Given the description of an element on the screen output the (x, y) to click on. 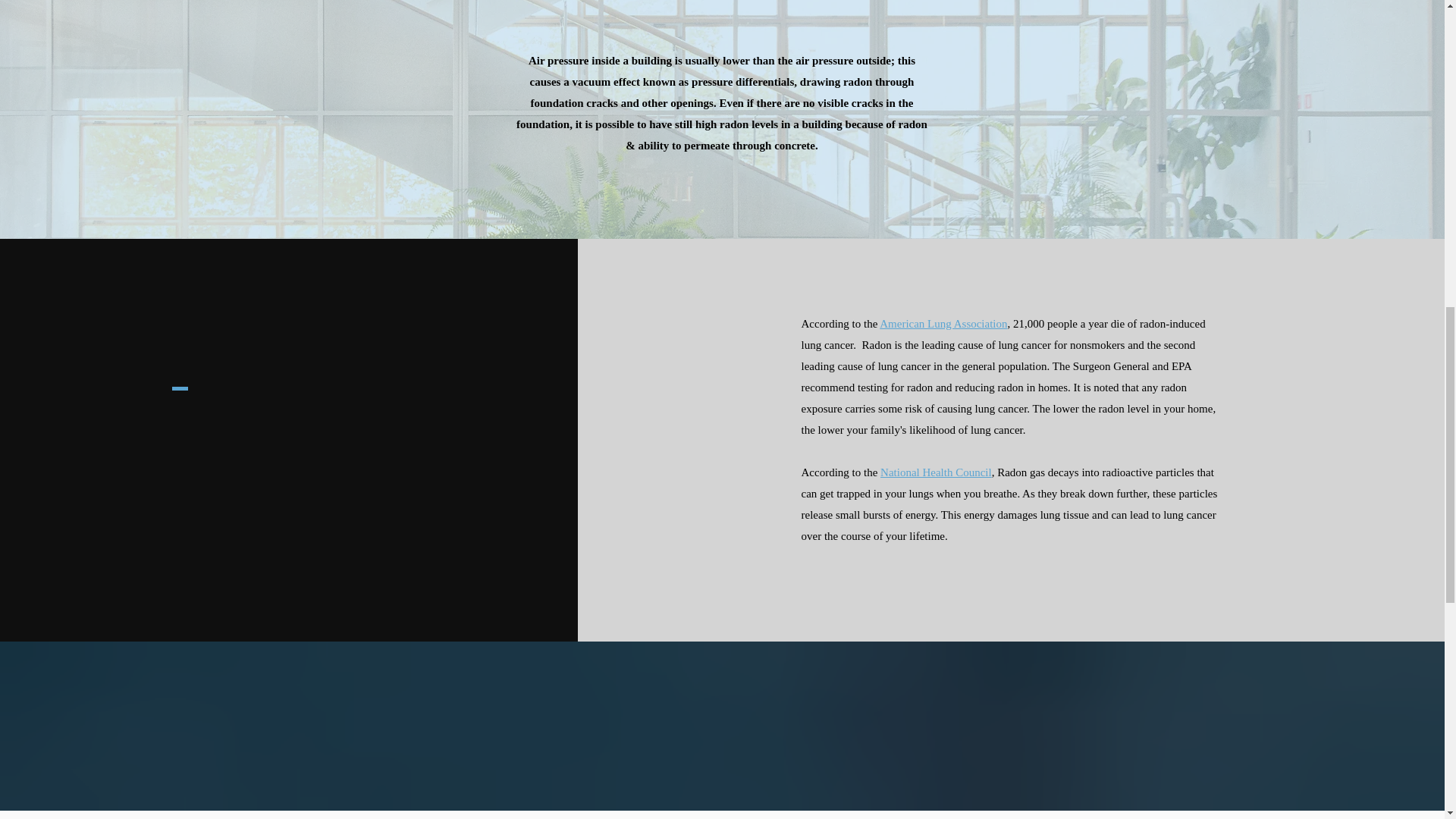
National Health Council (935, 472)
American Lung Association (943, 323)
